Given the description of an element on the screen output the (x, y) to click on. 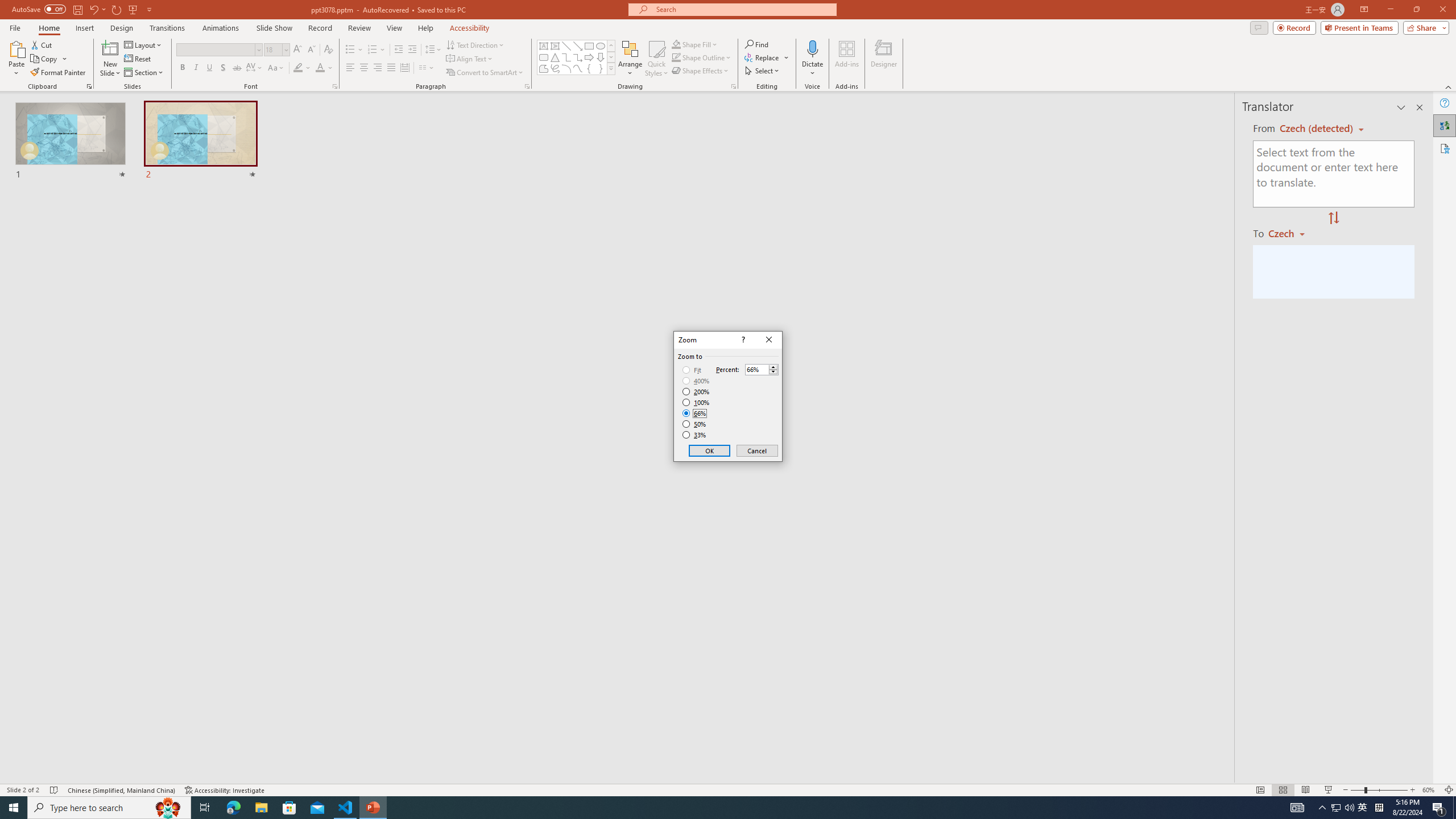
Context help (742, 339)
